Given the description of an element on the screen output the (x, y) to click on. 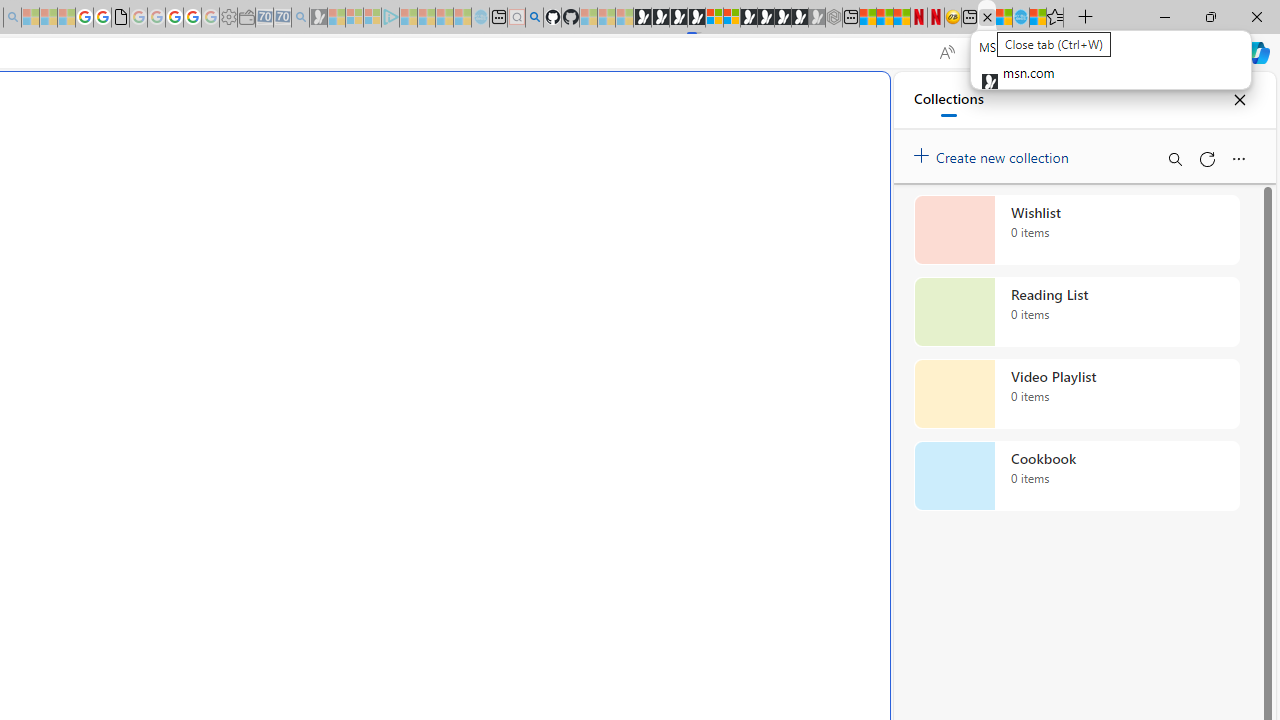
Reading List collection, 0 items (1076, 312)
Cookbook collection, 0 items (1076, 475)
Close split screen (844, 102)
